Given the description of an element on the screen output the (x, y) to click on. 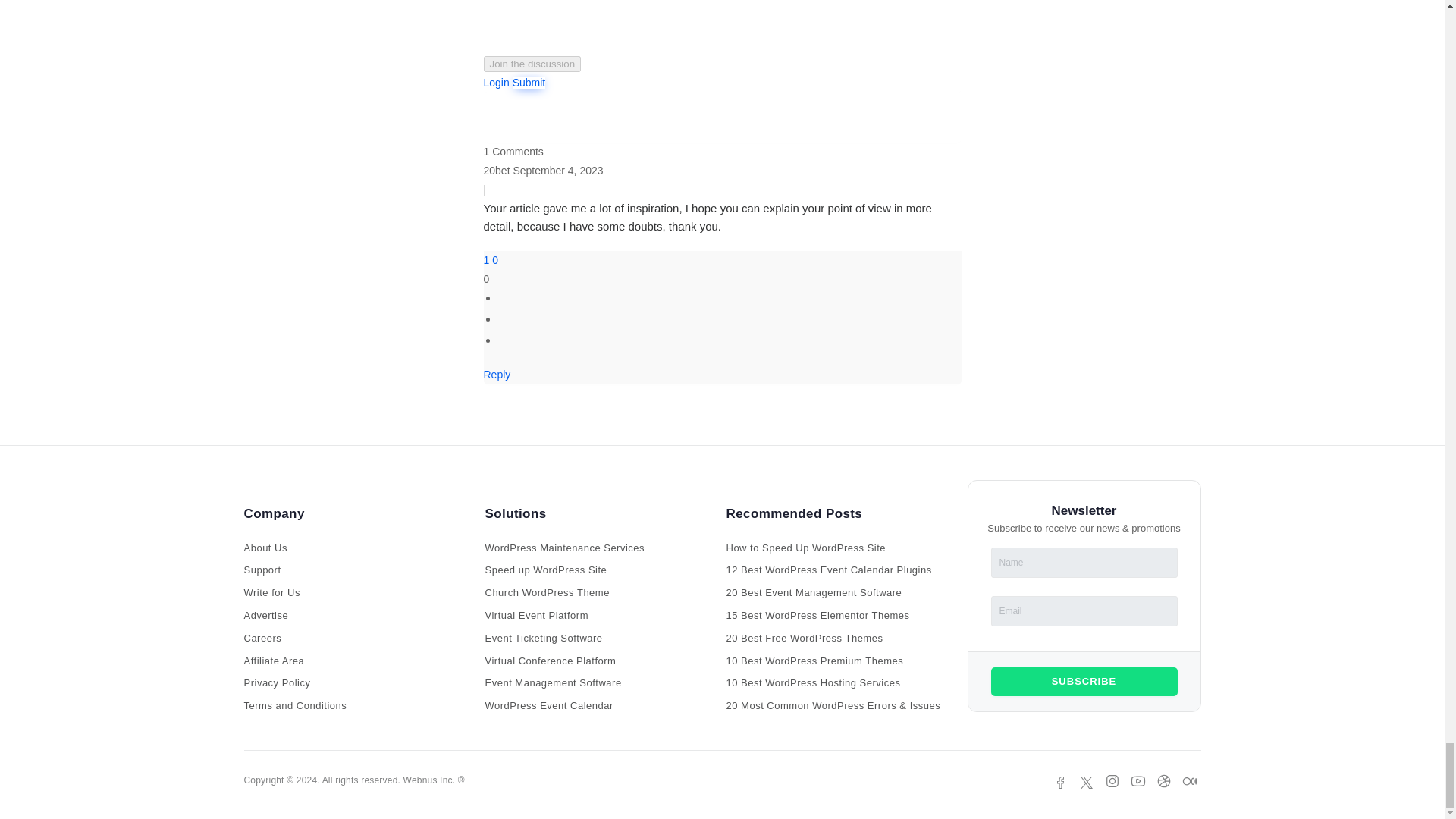
Join the discussion (531, 64)
